Given the description of an element on the screen output the (x, y) to click on. 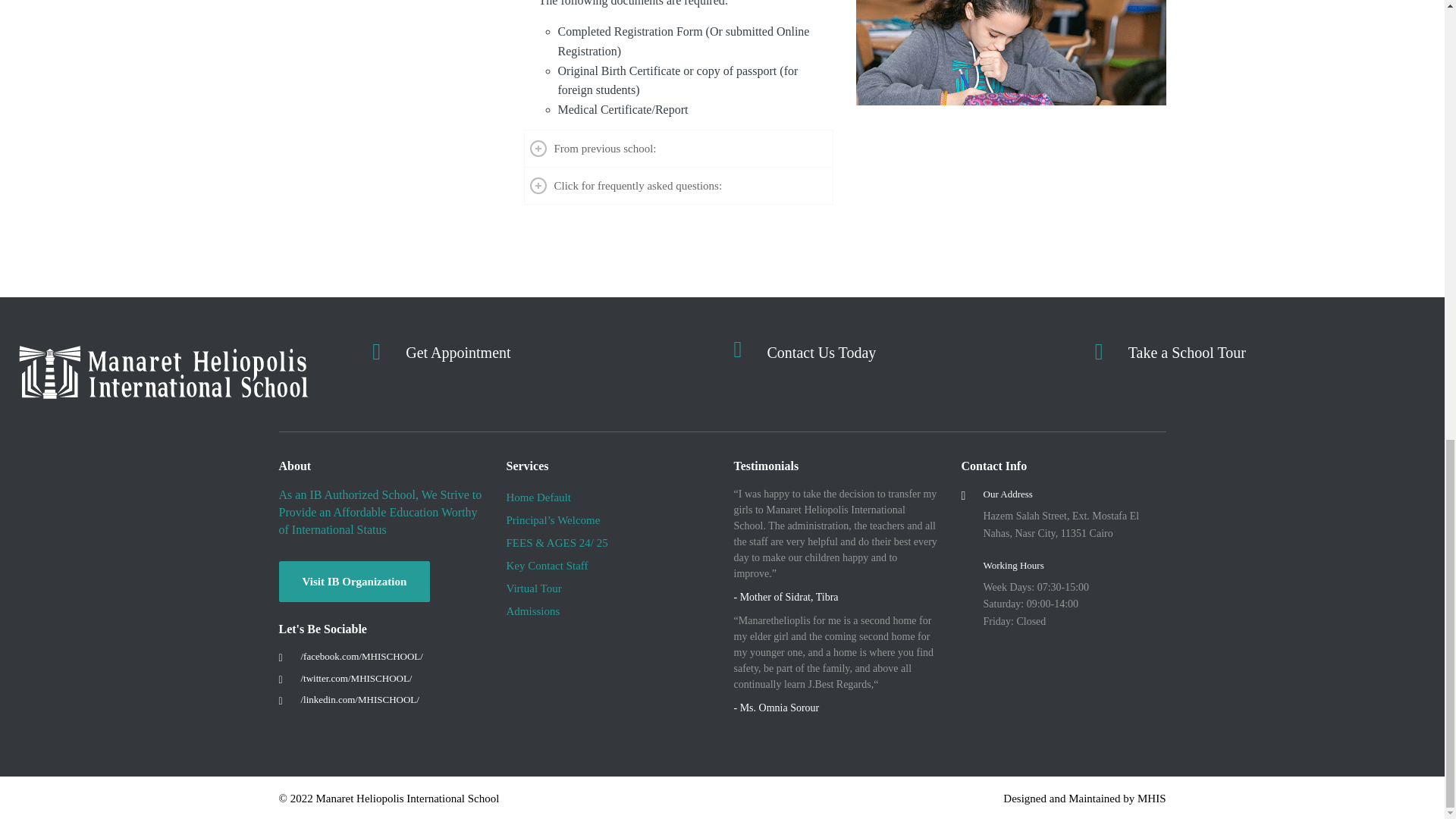
Manaret Heliopolis International School (355, 677)
Contact (458, 352)
Manaret Heliopolis International School (360, 655)
Manaret Heliopolis International School (359, 699)
Contact (821, 352)
Virtual Tour (1187, 352)
